Given the description of an element on the screen output the (x, y) to click on. 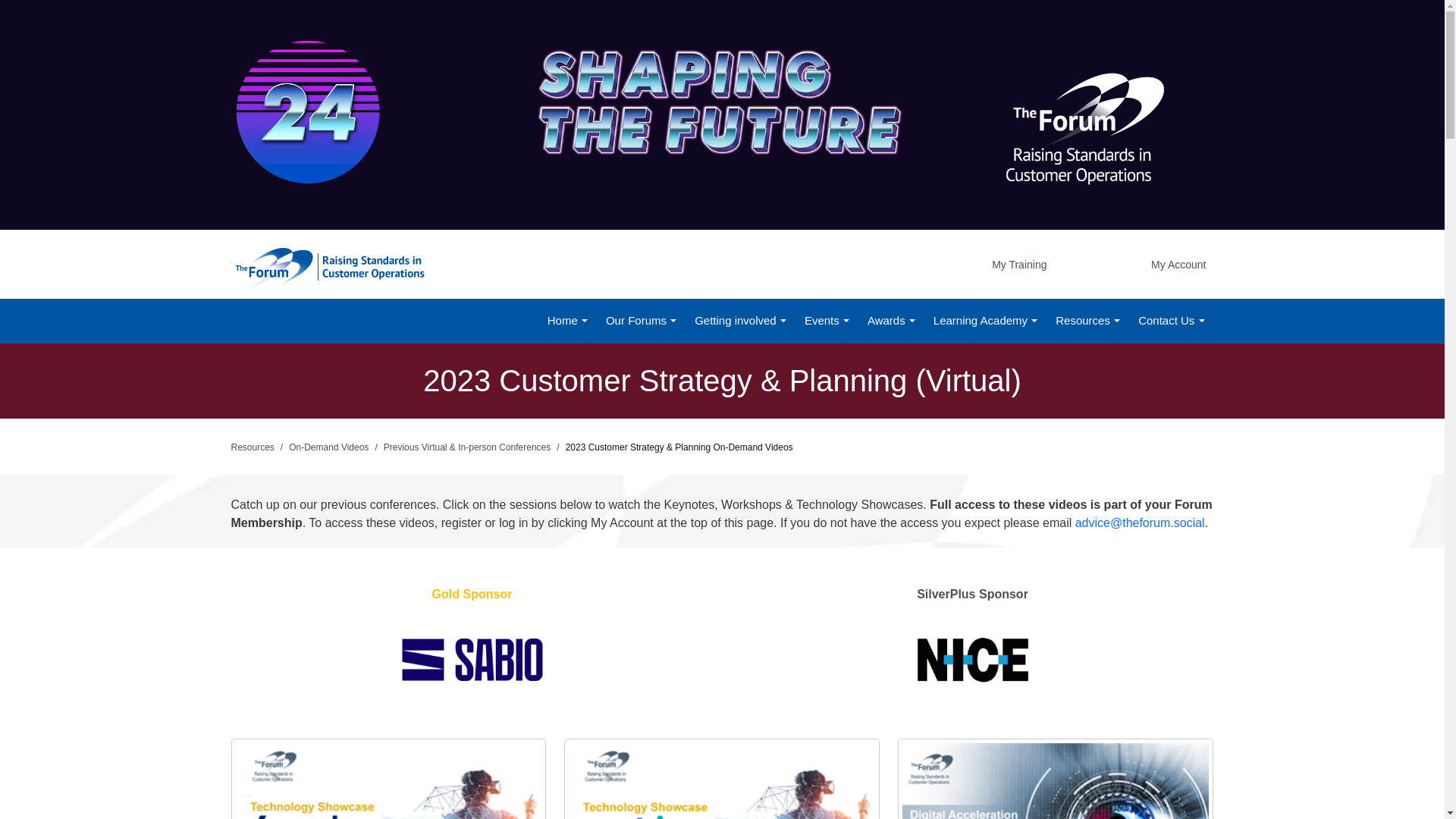
My Training (805, 264)
Getting involved (740, 320)
Home (567, 320)
theforum.social (327, 266)
Events (826, 320)
Our Forums (641, 320)
My Account (1178, 264)
